Given the description of an element on the screen output the (x, y) to click on. 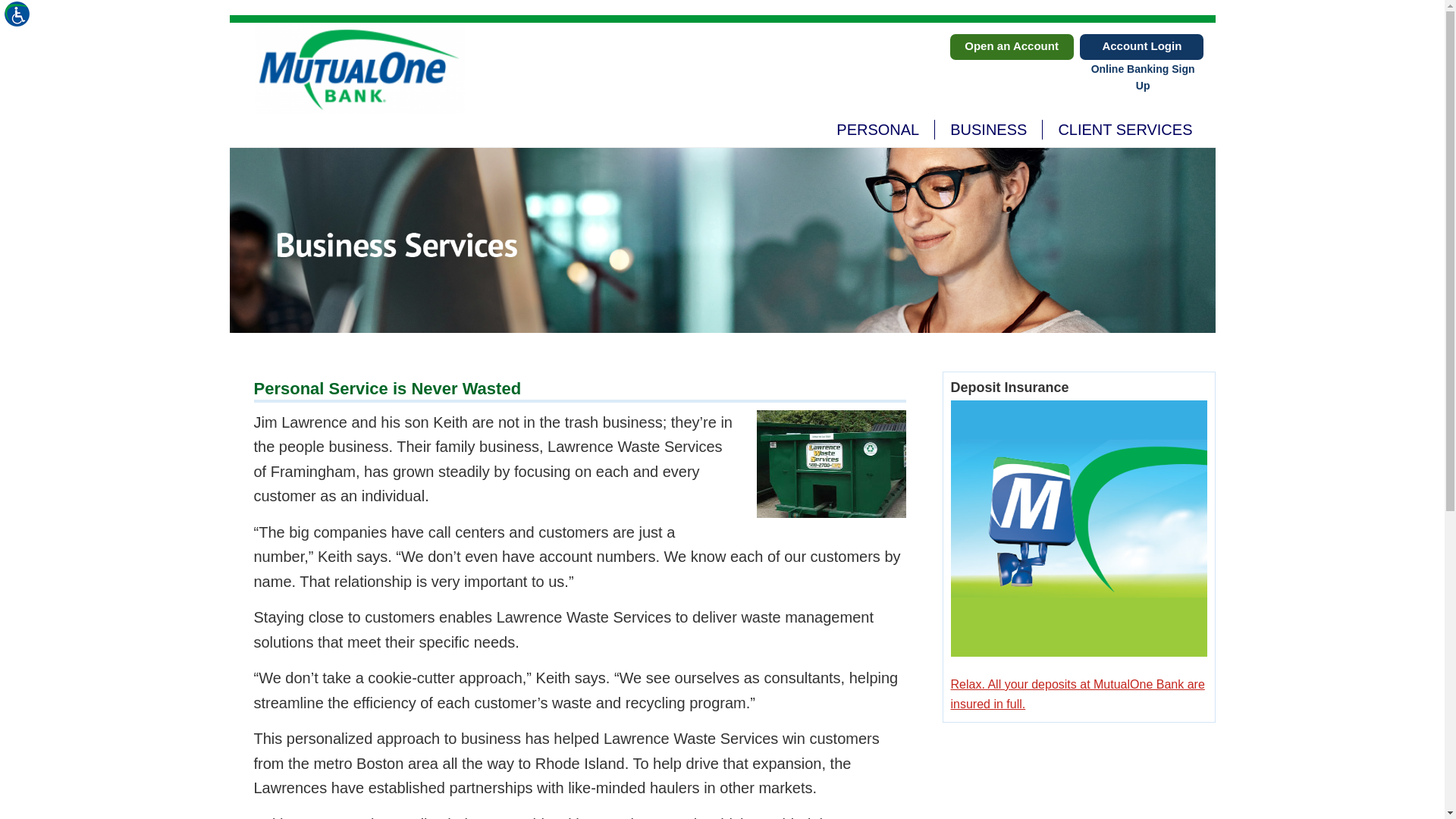
PERSONAL (877, 129)
CLIENT SERVICES (1124, 129)
Accessibility Helper sidebar (18, 18)
MutualOne Bank (1014, 129)
BUSINESS (359, 67)
Skip to primary navigation (988, 129)
Open an Account (1142, 46)
Online Banking Sign Up (1011, 46)
